Given the description of an element on the screen output the (x, y) to click on. 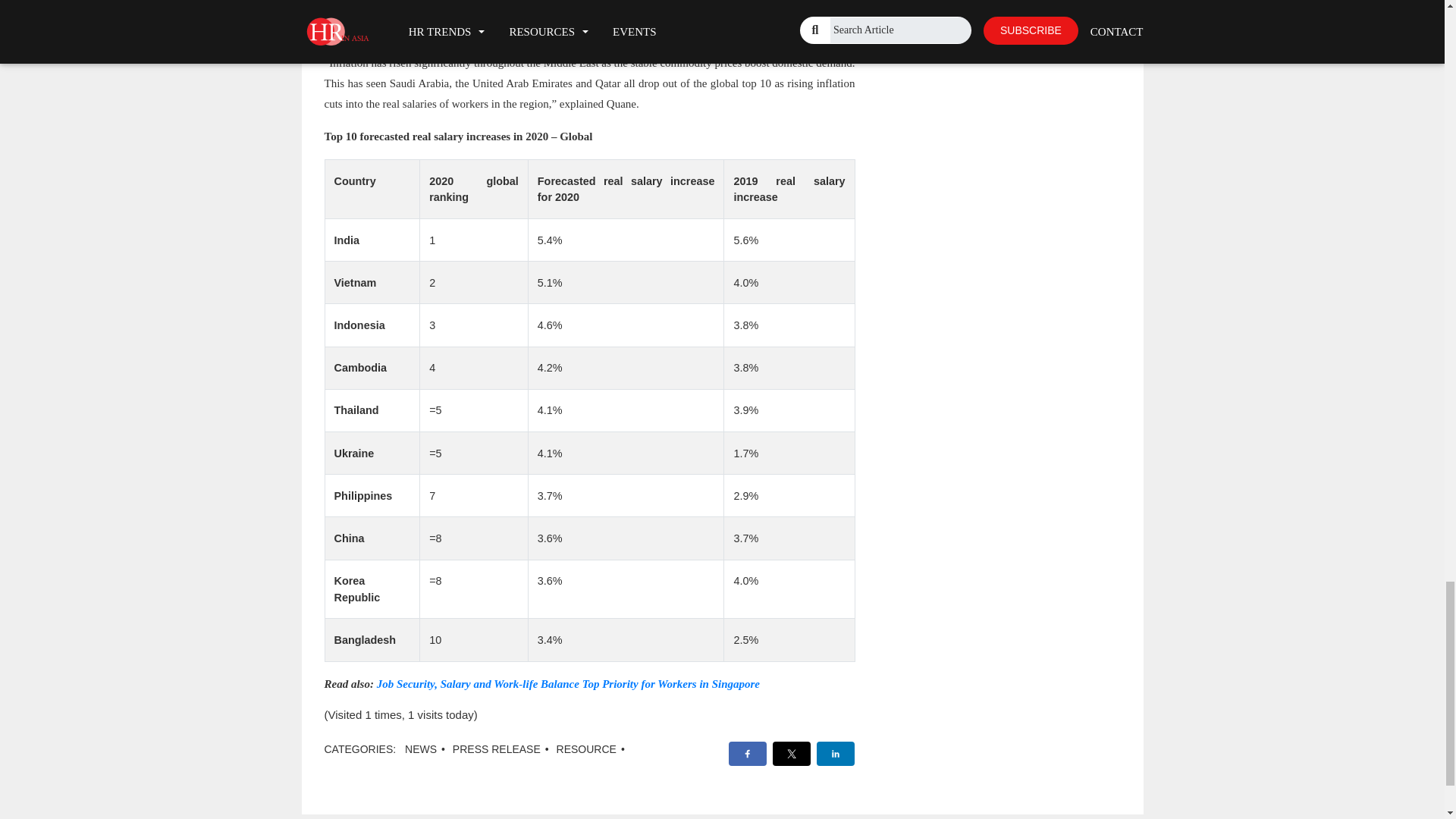
PRESS RELEASE (496, 748)
NEWS (420, 748)
RESOURCE (585, 748)
